Given the description of an element on the screen output the (x, y) to click on. 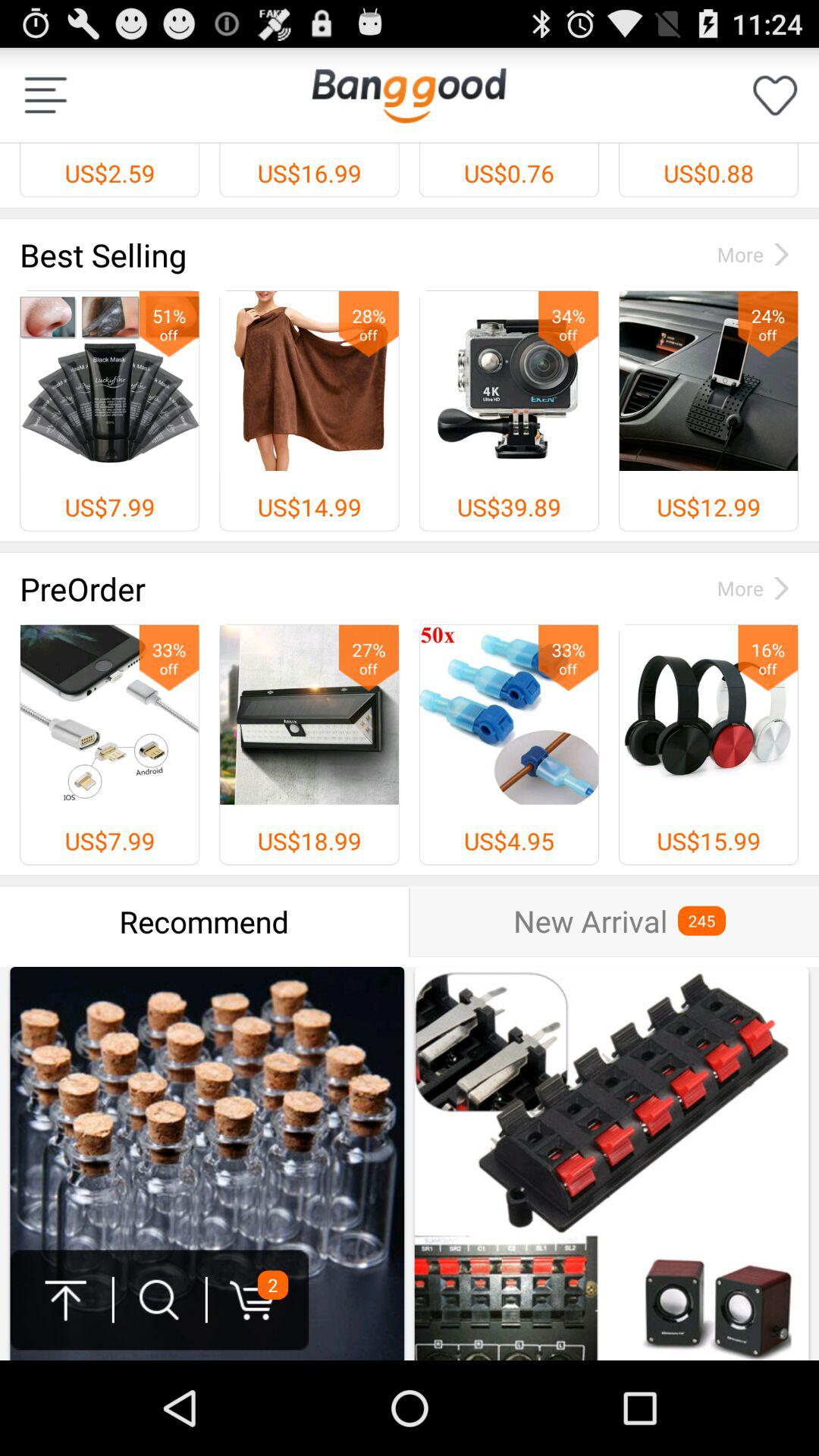
home page (409, 95)
